Given the description of an element on the screen output the (x, y) to click on. 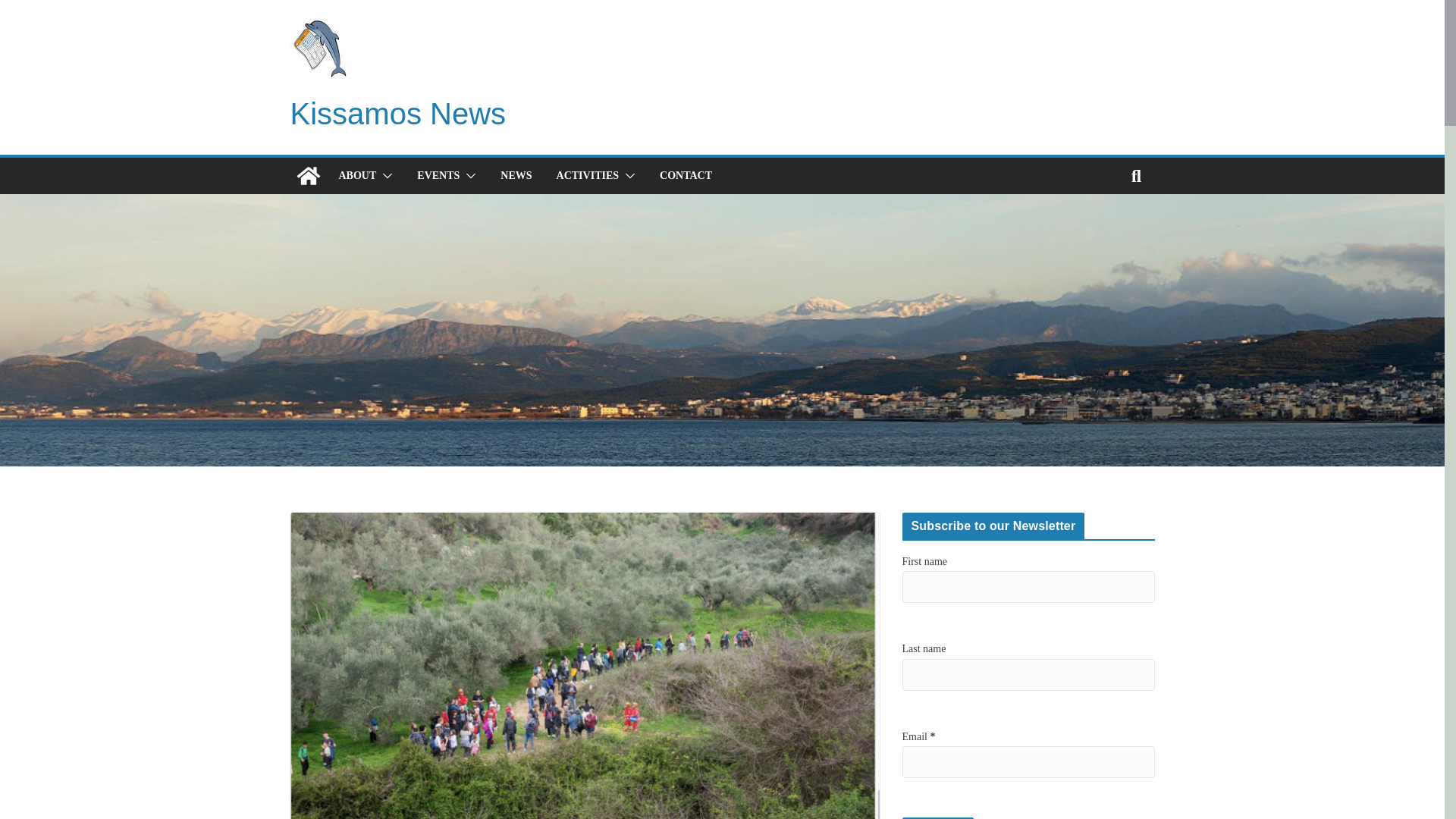
Kissamos News (307, 176)
Kissamos News (397, 113)
CONTACT (685, 175)
ACTIVITIES (587, 175)
Subscribe! (938, 818)
ABOUT (356, 175)
Kissamos News (397, 113)
EVENTS (438, 175)
Subscribe! (938, 818)
First name (1028, 586)
